Given the description of an element on the screen output the (x, y) to click on. 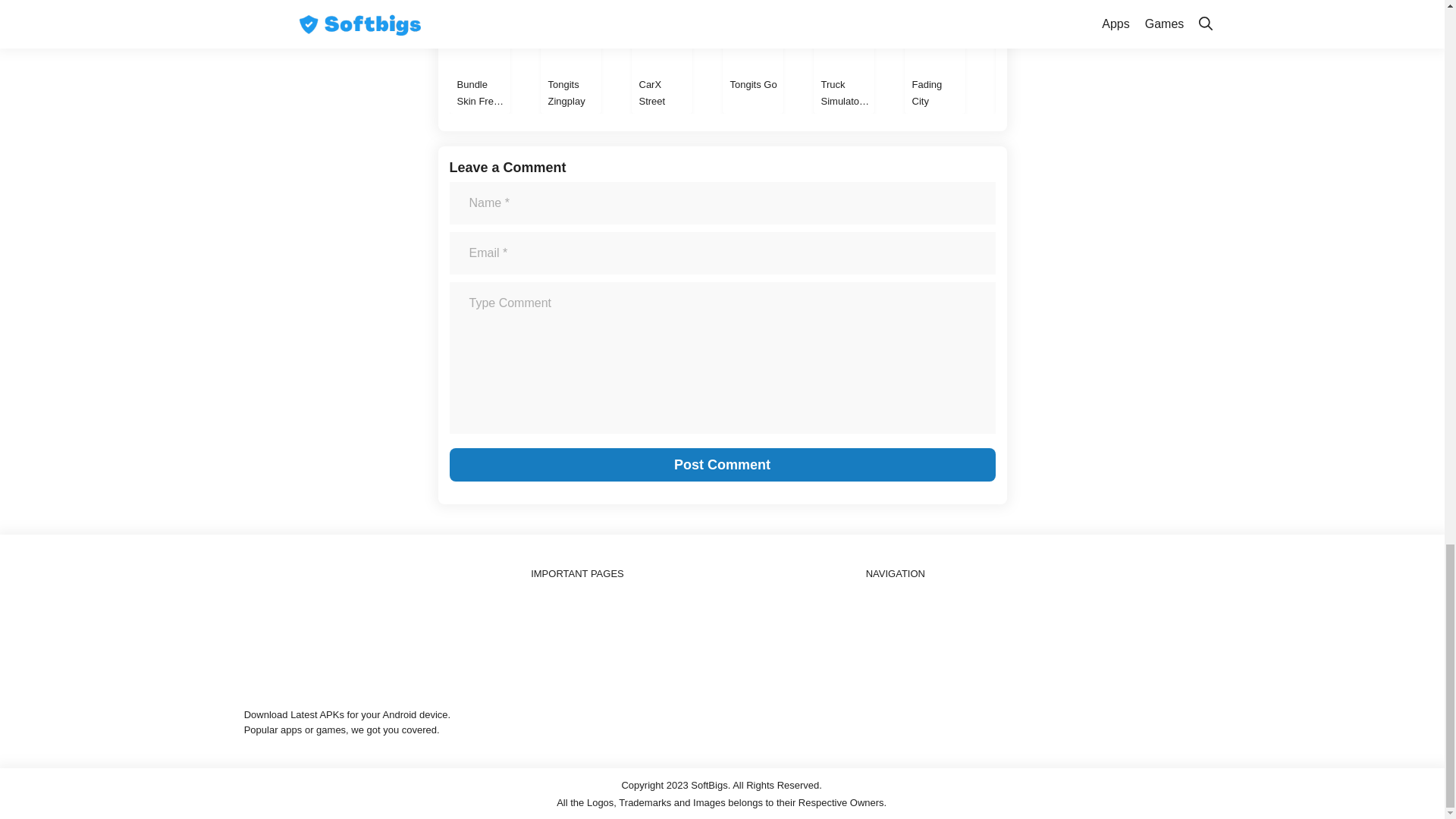
Post Comment (721, 464)
